Given the description of an element on the screen output the (x, y) to click on. 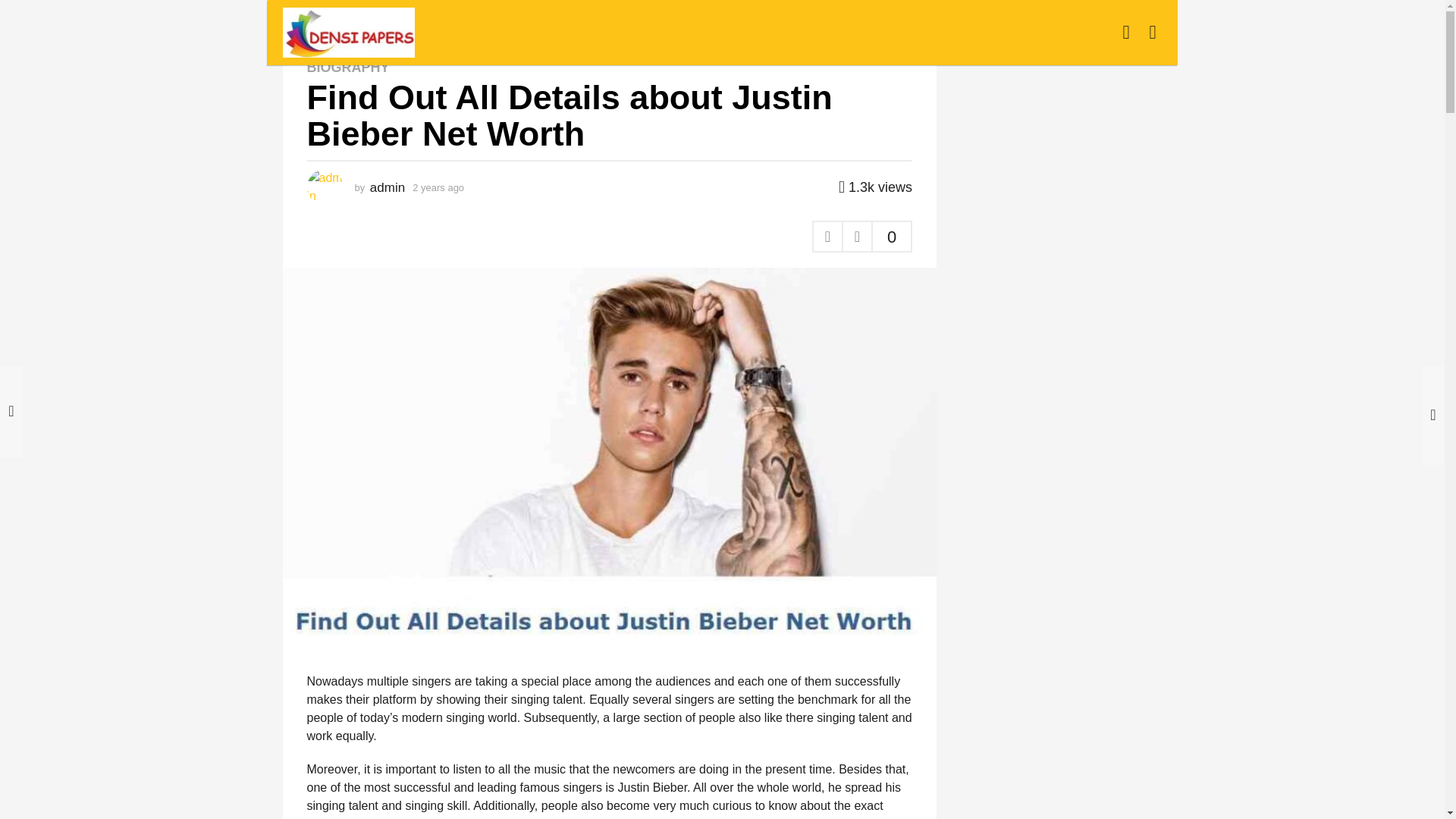
BIOGRAPHY (365, 19)
HOME (298, 19)
Find Out All Details about Justin Bieber Net Worth (525, 19)
BIOGRAPHY (346, 67)
admin (386, 187)
